Given the description of an element on the screen output the (x, y) to click on. 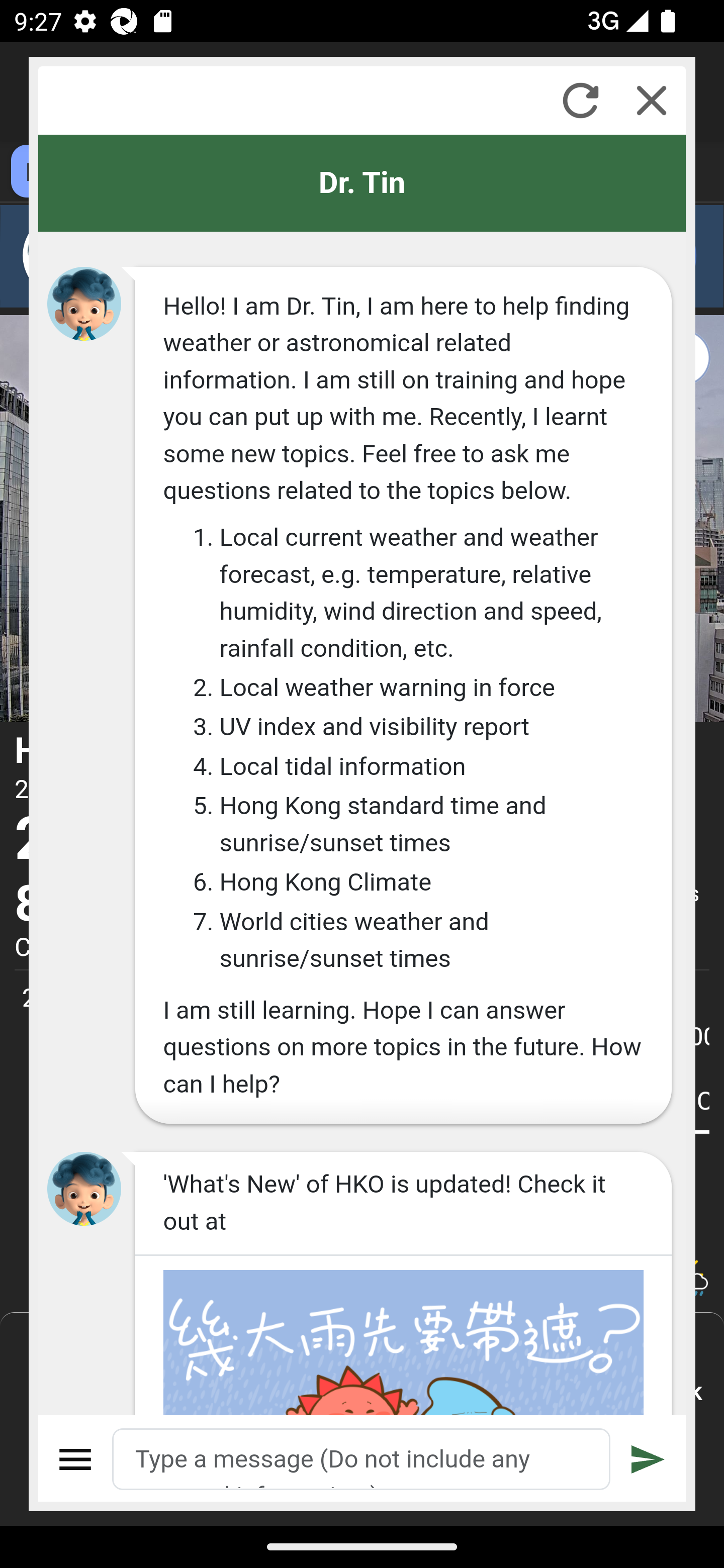
Refresh (580, 100)
Close (651, 100)
Menu (75, 1458)
Submit (648, 1458)
